Given the description of an element on the screen output the (x, y) to click on. 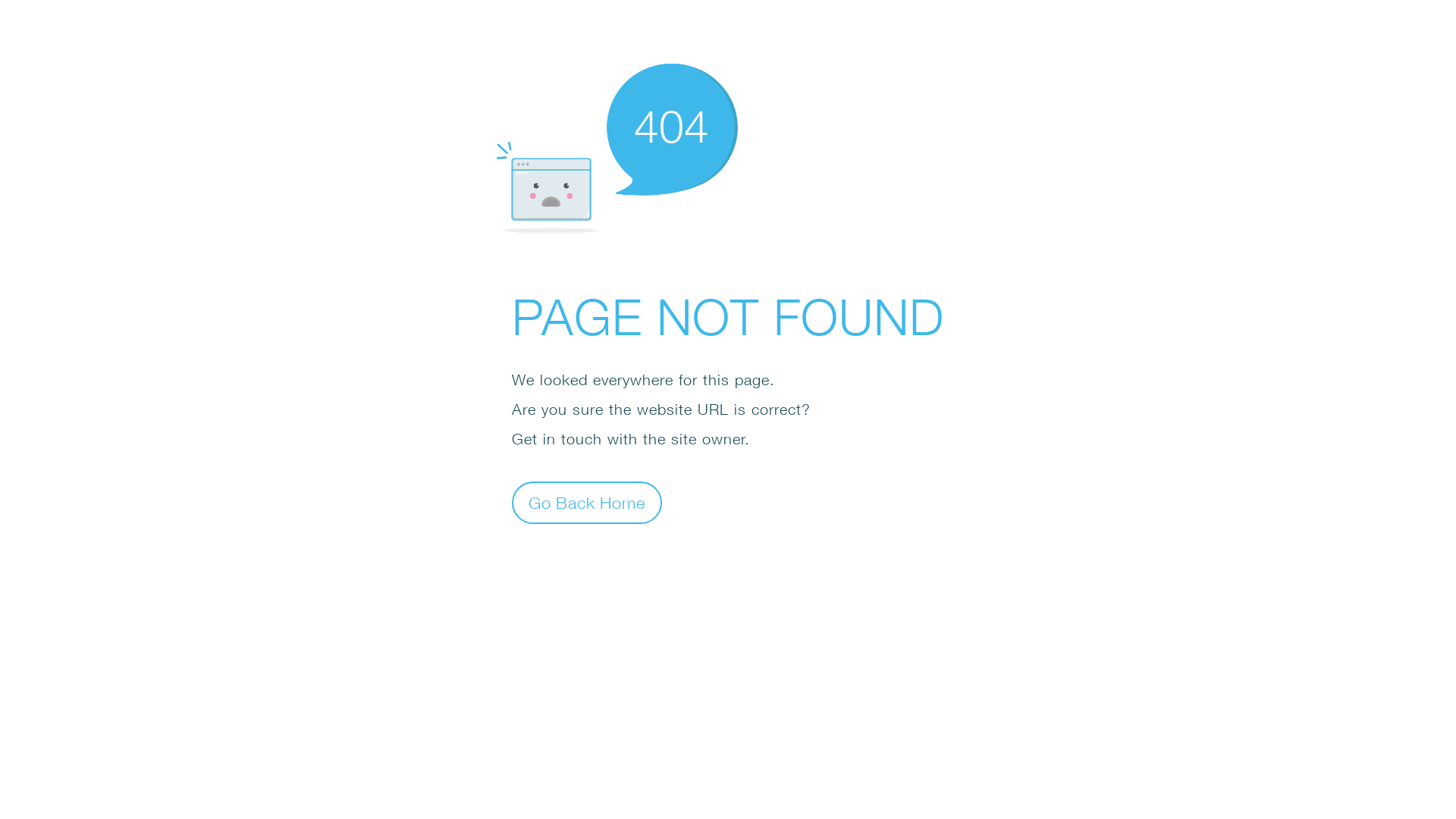
Go Back Home Element type: text (586, 502)
